Given the description of an element on the screen output the (x, y) to click on. 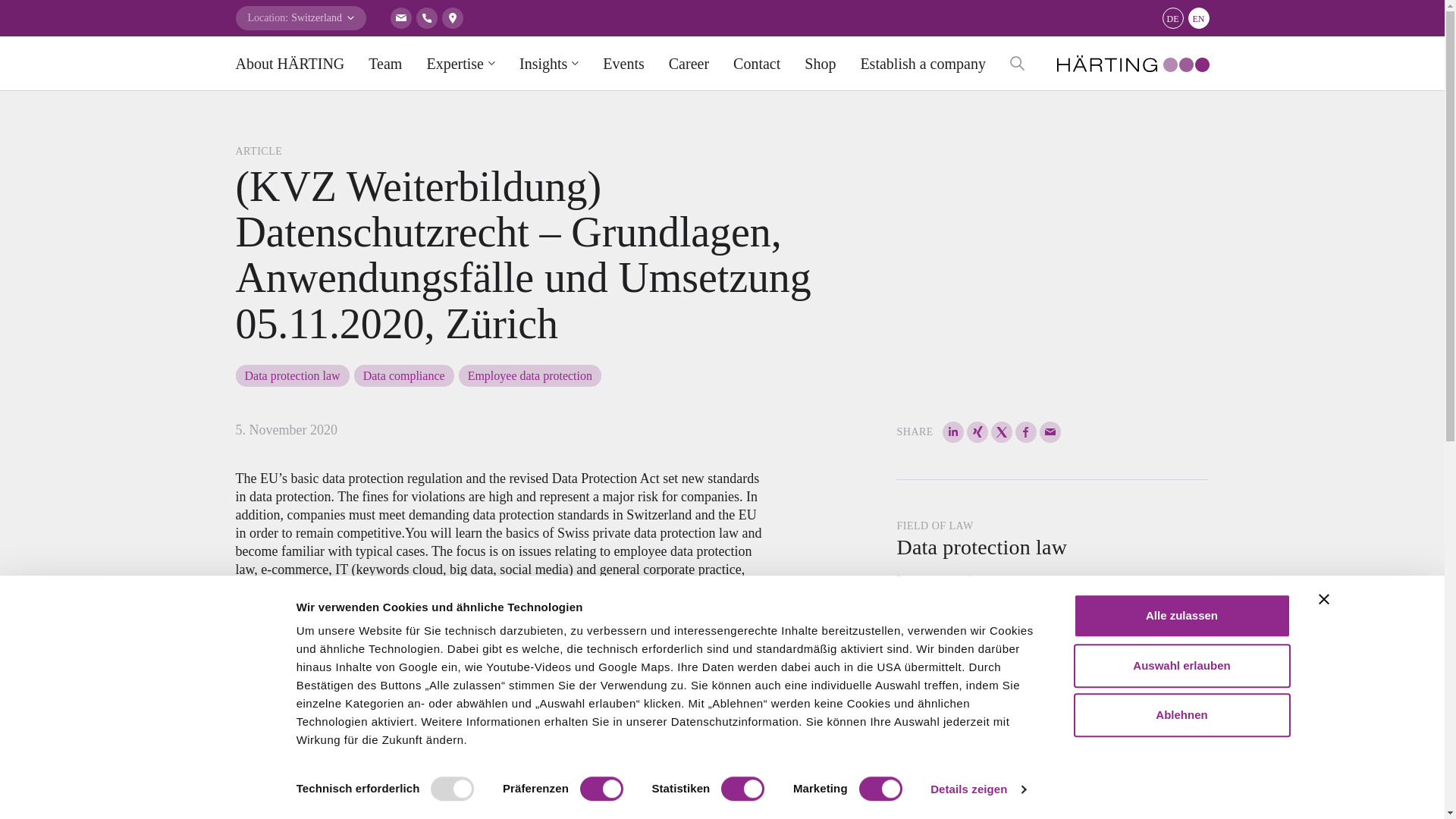
DE (1171, 17)
EN (1198, 17)
Auswahl erlauben (1182, 665)
Ablehnen (1182, 714)
Alle zulassen (1182, 615)
Details zeigen (977, 789)
